Given the description of an element on the screen output the (x, y) to click on. 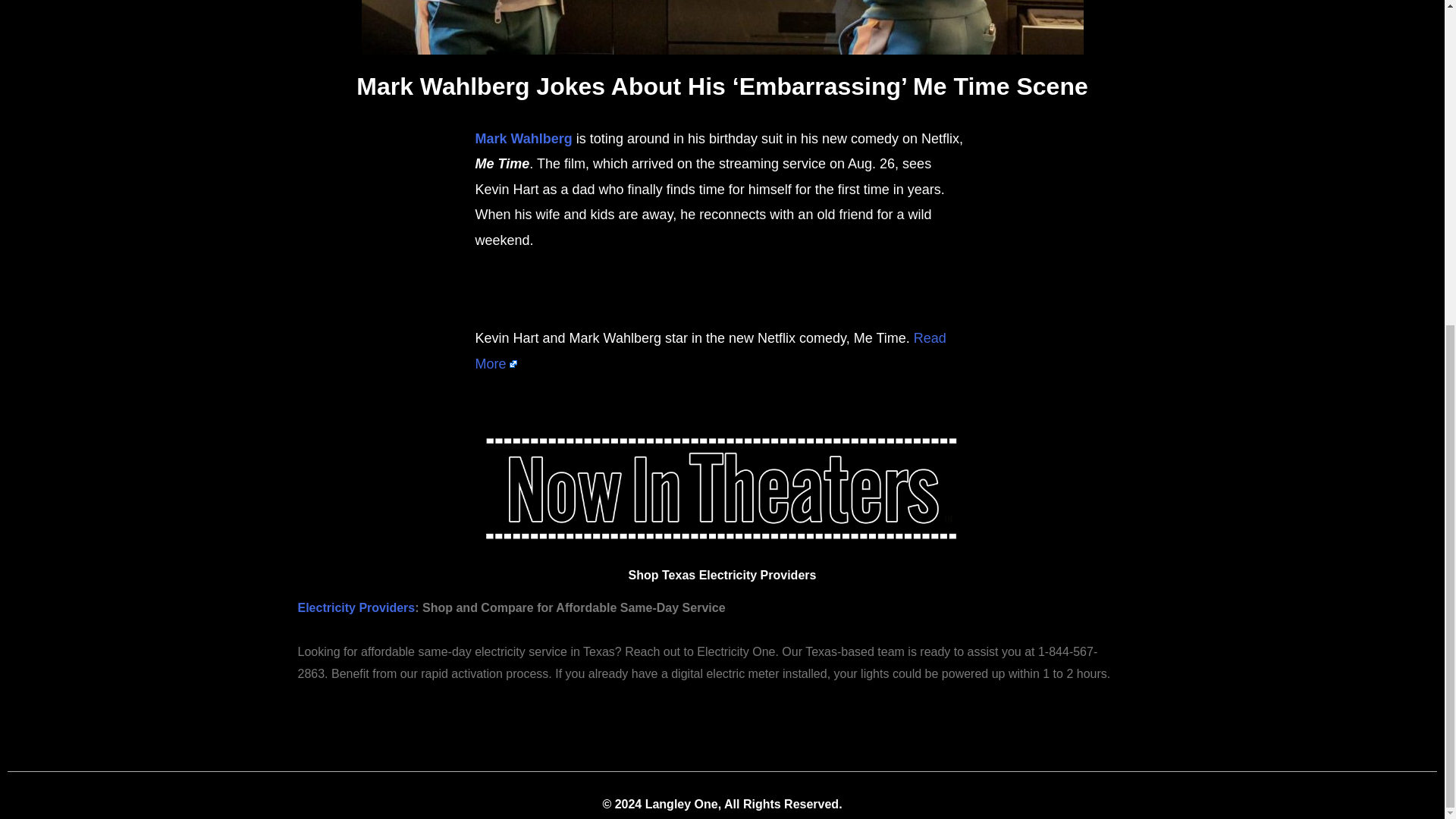
Electricity Providers (355, 607)
Shop Texas Electricity Providers (722, 574)
Read More (709, 350)
Mark Wahlberg (523, 138)
